Given the description of an element on the screen output the (x, y) to click on. 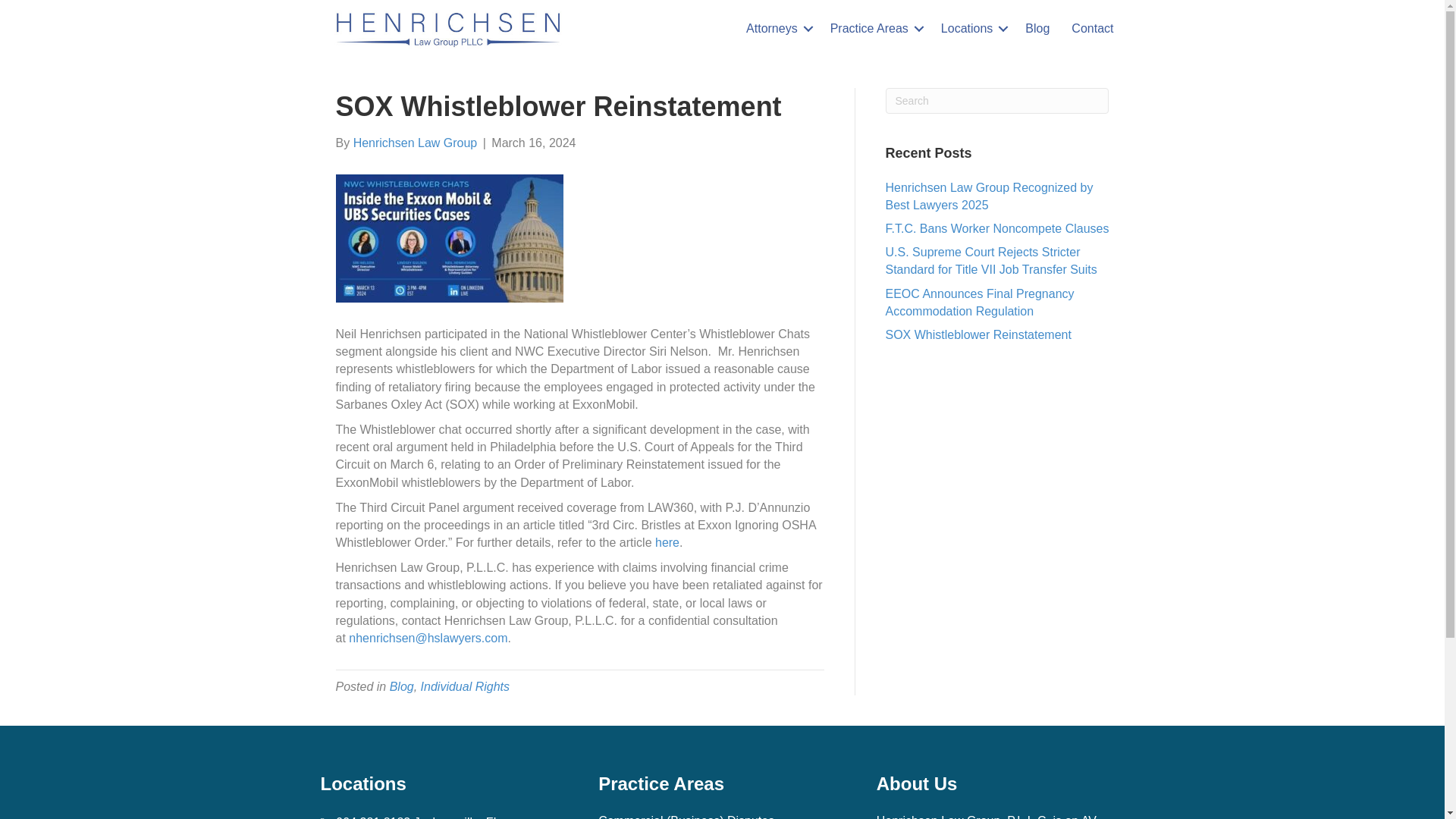
EEOC Announces Final Pregnancy Accommodation Regulation (979, 302)
Locations (972, 28)
Jacksonville, FL (456, 817)
Blog (1036, 28)
Practice Areas (874, 28)
Type and press Enter to search. (997, 100)
SOX Whistleblower Reinstatement (978, 334)
Individual Rights (464, 686)
Blog (401, 686)
